Given the description of an element on the screen output the (x, y) to click on. 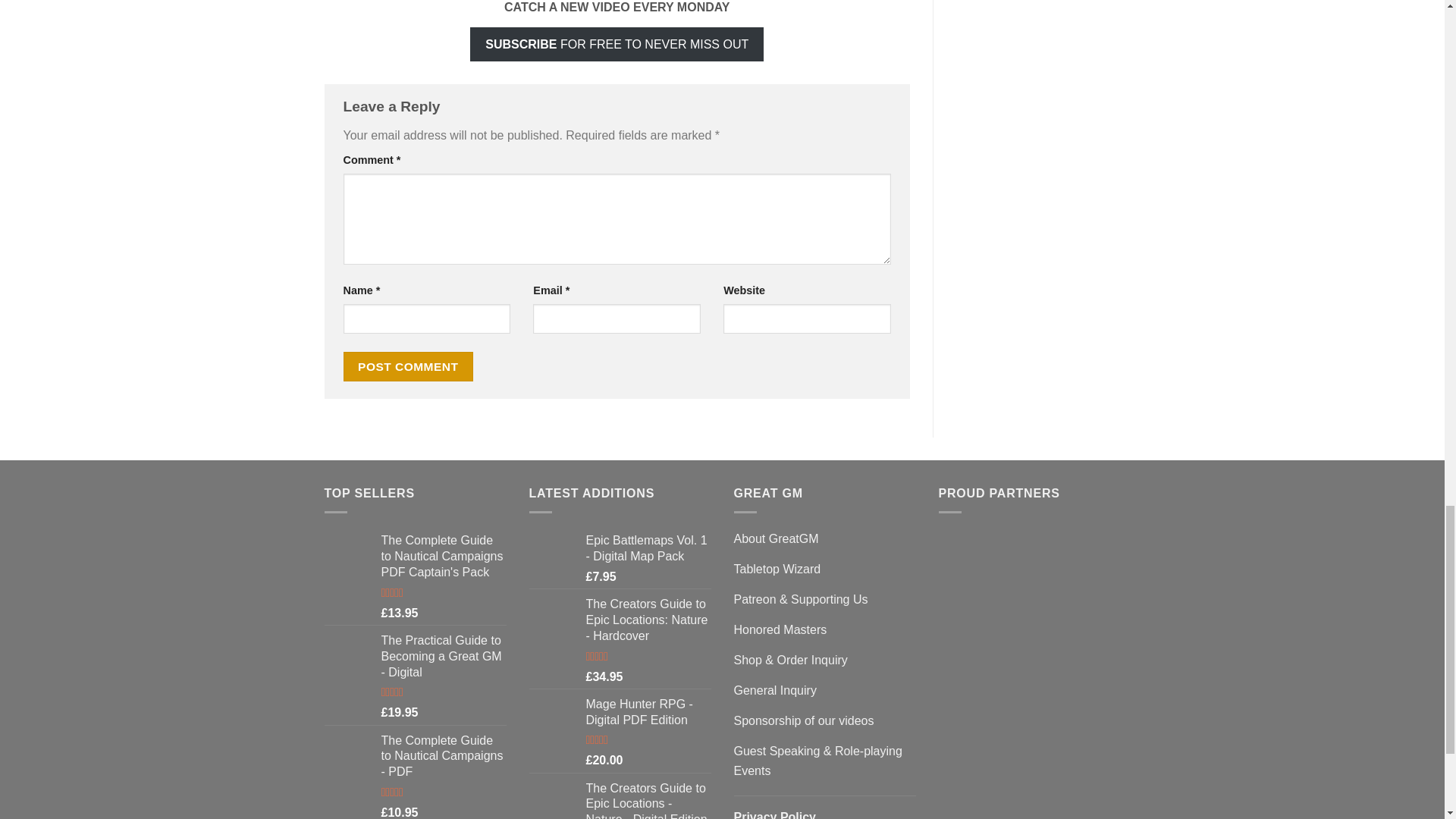
Tabletop Wizard (1003, 589)
Post Comment (407, 366)
Dungeonfog Logo (968, 704)
World Anvil Logo (999, 795)
